Given the description of an element on the screen output the (x, y) to click on. 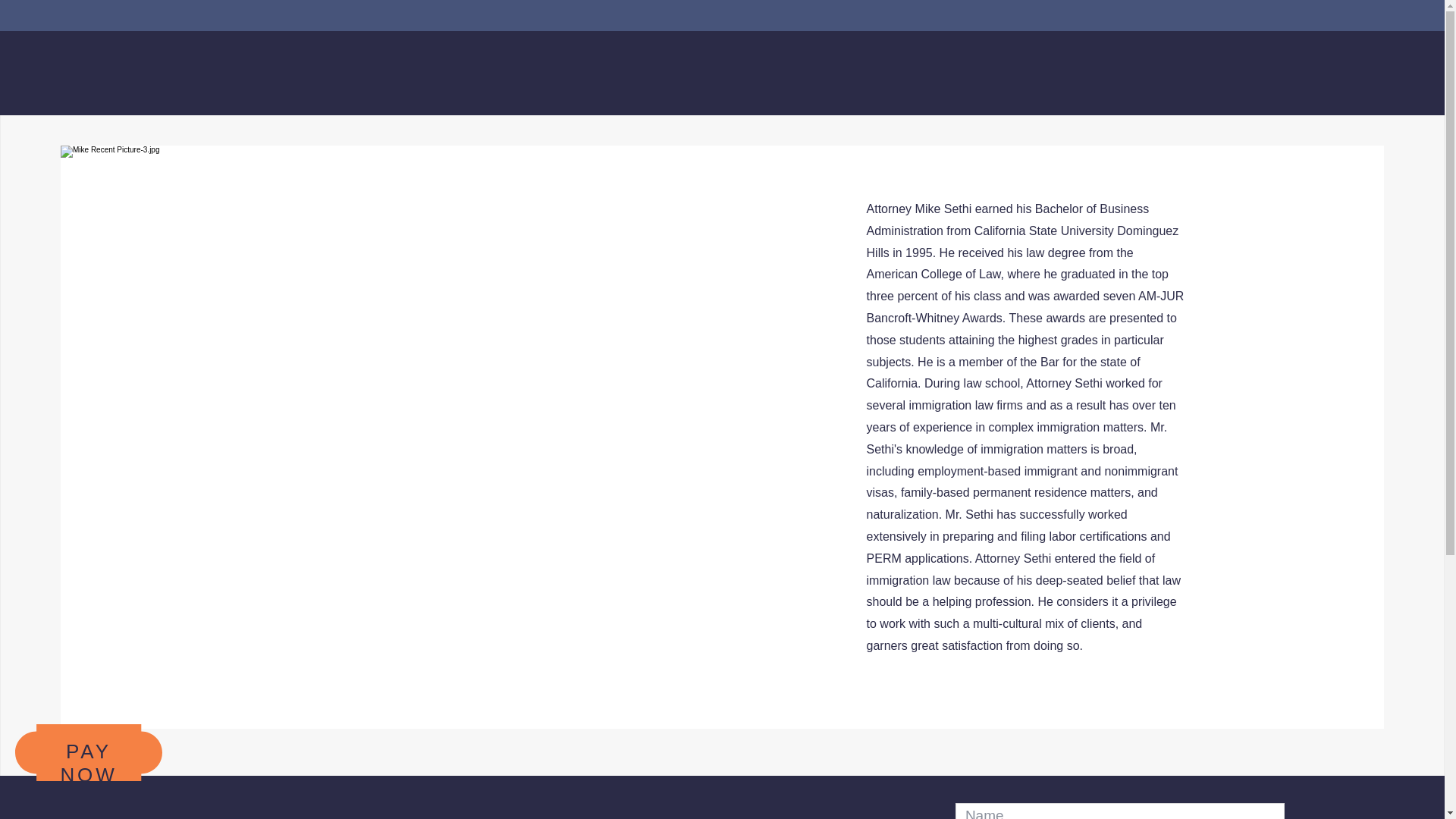
PAY NOW (87, 763)
